Given the description of an element on the screen output the (x, y) to click on. 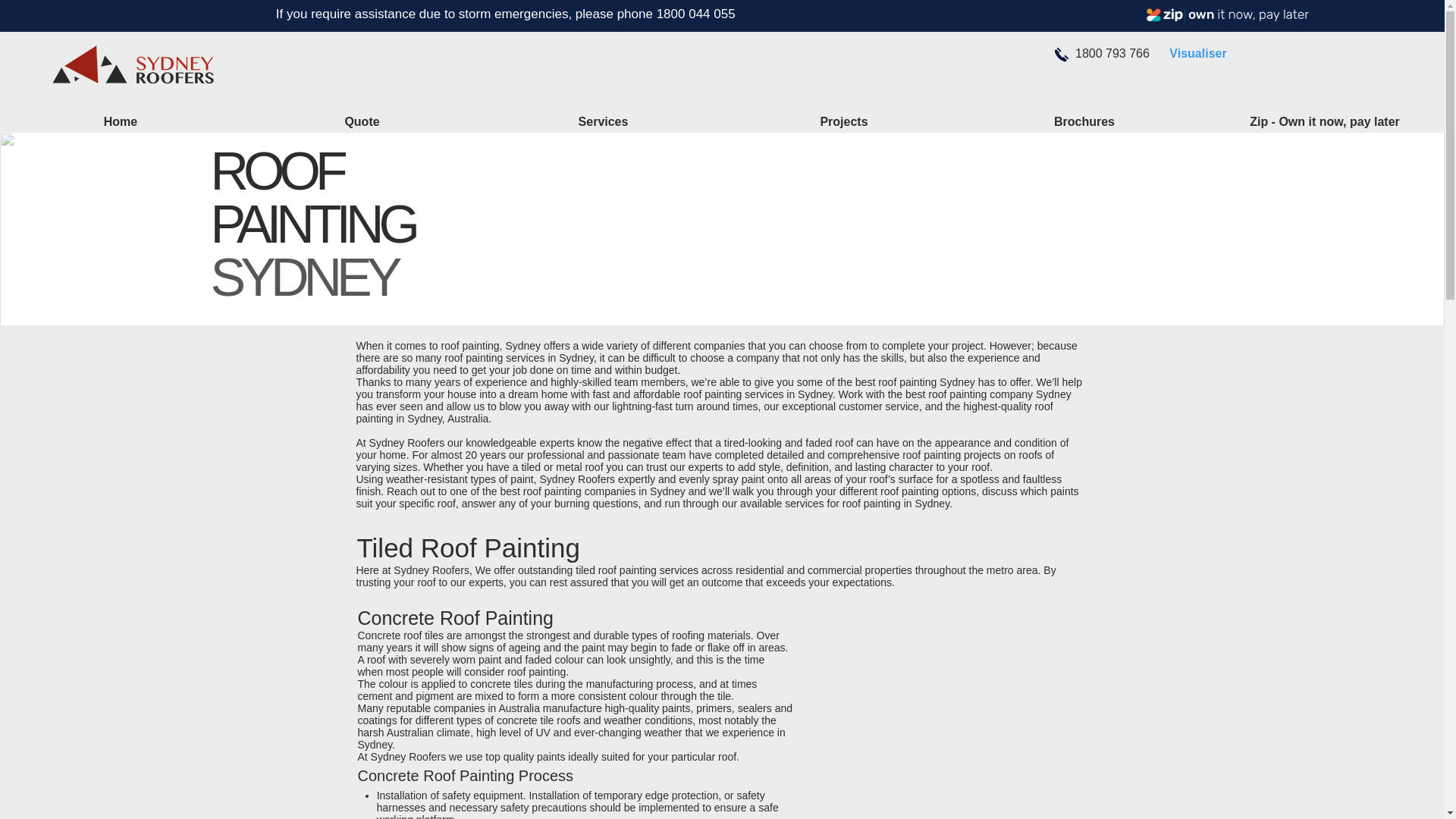
Zip - Own it now, pay later (1227, 15)
Quote (361, 121)
Home (120, 121)
Projects (843, 121)
Visualiser (1197, 52)
Phone (1060, 54)
1800 793 766 (1112, 52)
